Given the description of an element on the screen output the (x, y) to click on. 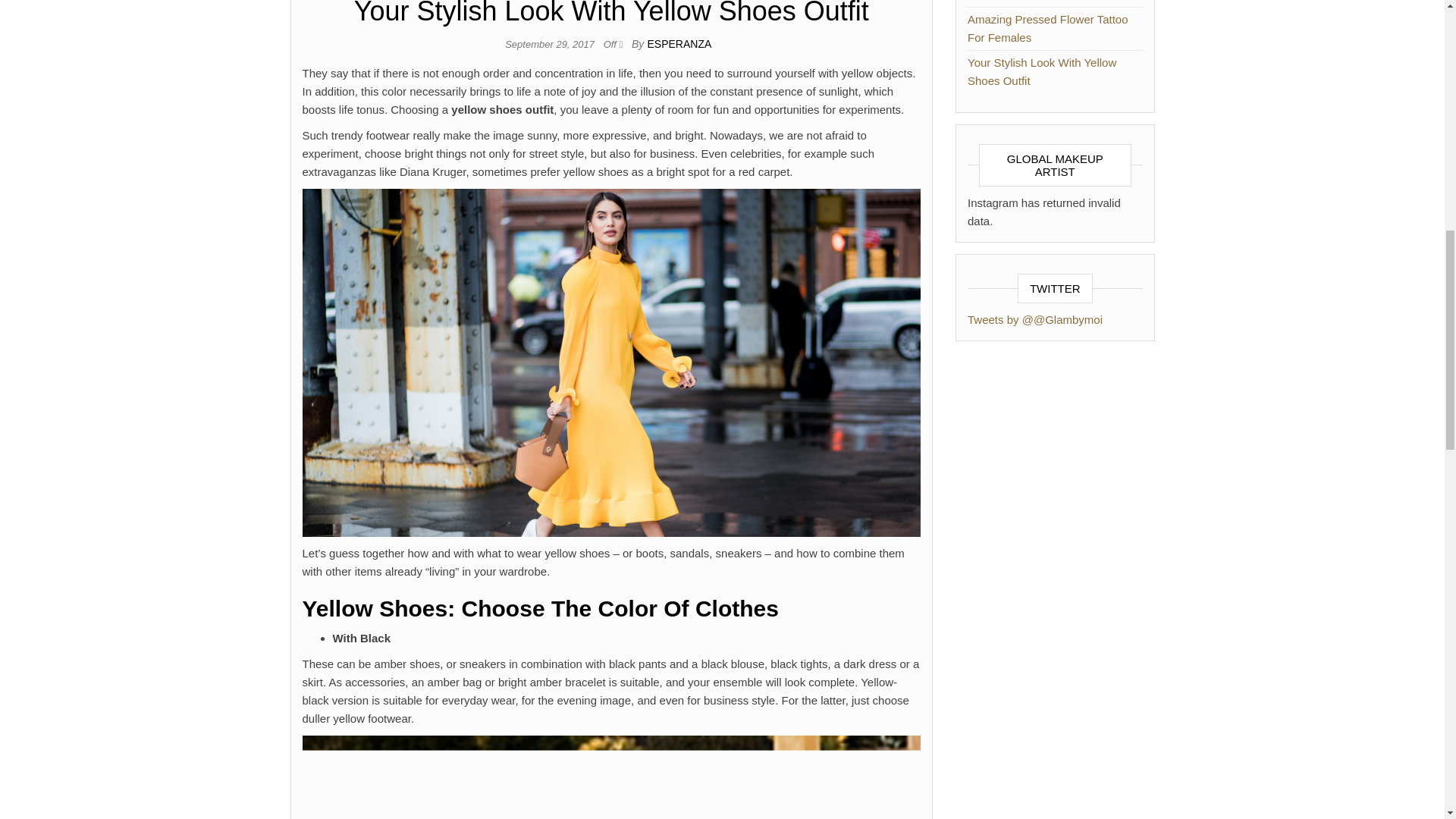
ESPERANZA (678, 43)
Amazing Pressed Flower Tattoo For Females (1048, 28)
Your Stylish Look With Yellow Shoes Outfit (1042, 71)
